Given the description of an element on the screen output the (x, y) to click on. 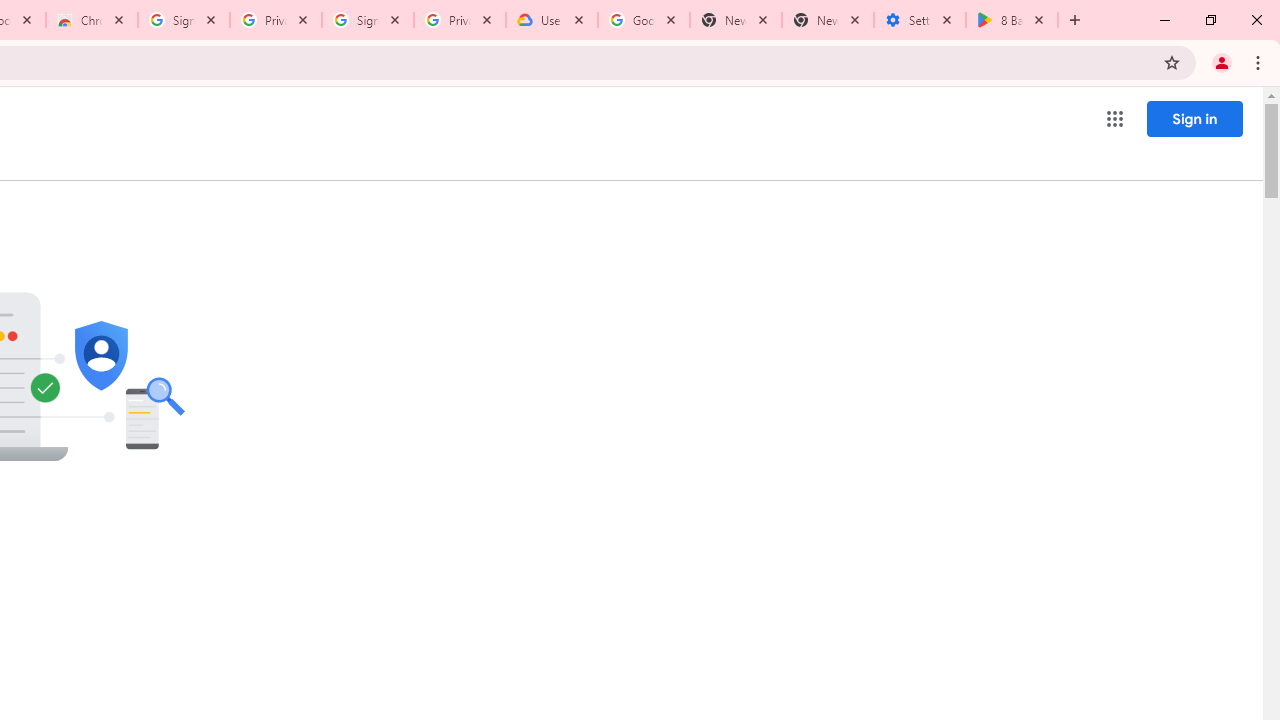
New Tab (828, 20)
8 Ball Pool - Apps on Google Play (1012, 20)
Sign in - Google Accounts (367, 20)
Chrome Web Store - Color themes by Chrome (92, 20)
